Given the description of an element on the screen output the (x, y) to click on. 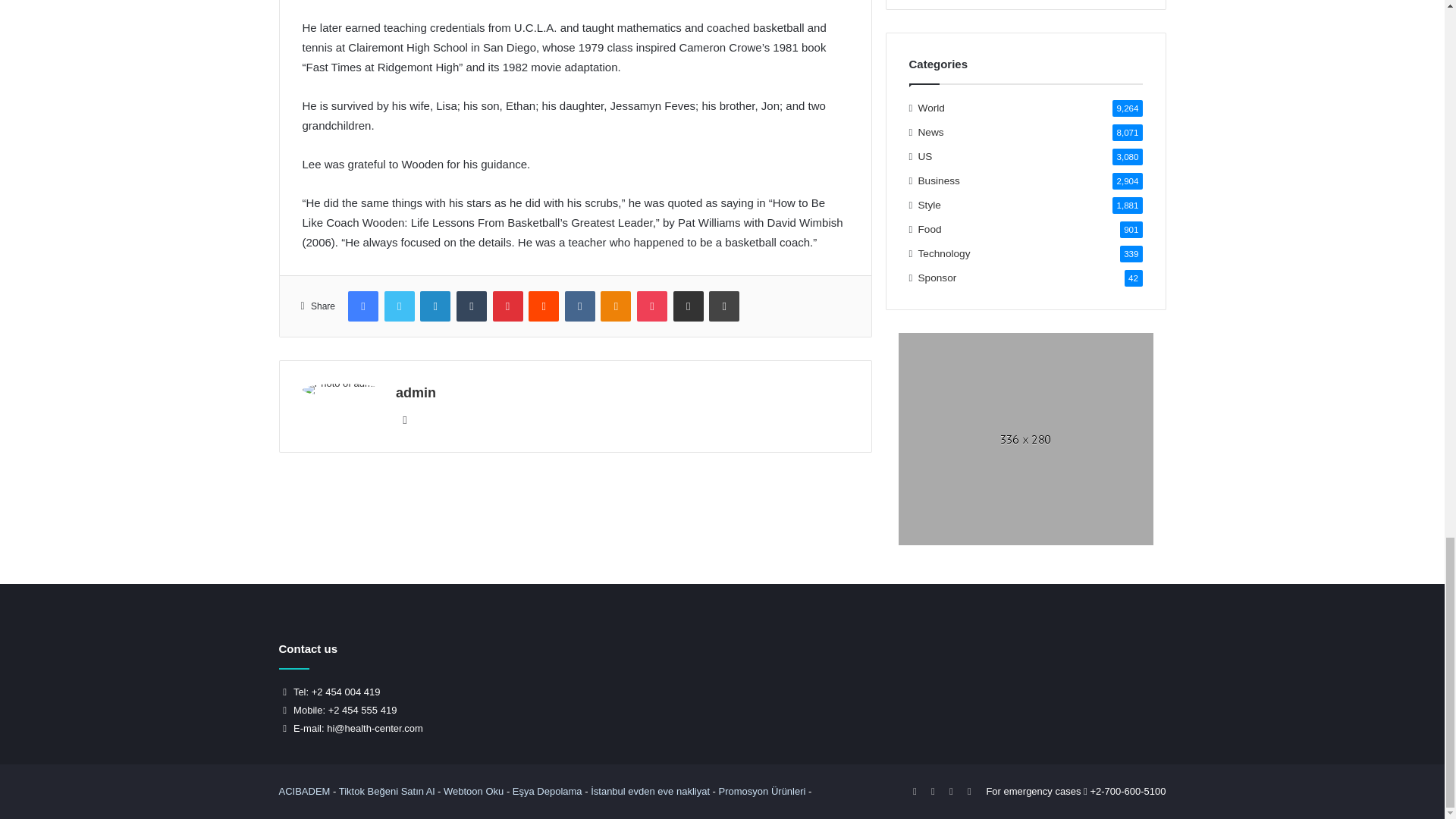
Facebook (362, 306)
Reddit (543, 306)
Tumblr (471, 306)
Twitter (399, 306)
Odnoklassniki (614, 306)
LinkedIn (434, 306)
VKontakte (579, 306)
Pinterest (507, 306)
